Given the description of an element on the screen output the (x, y) to click on. 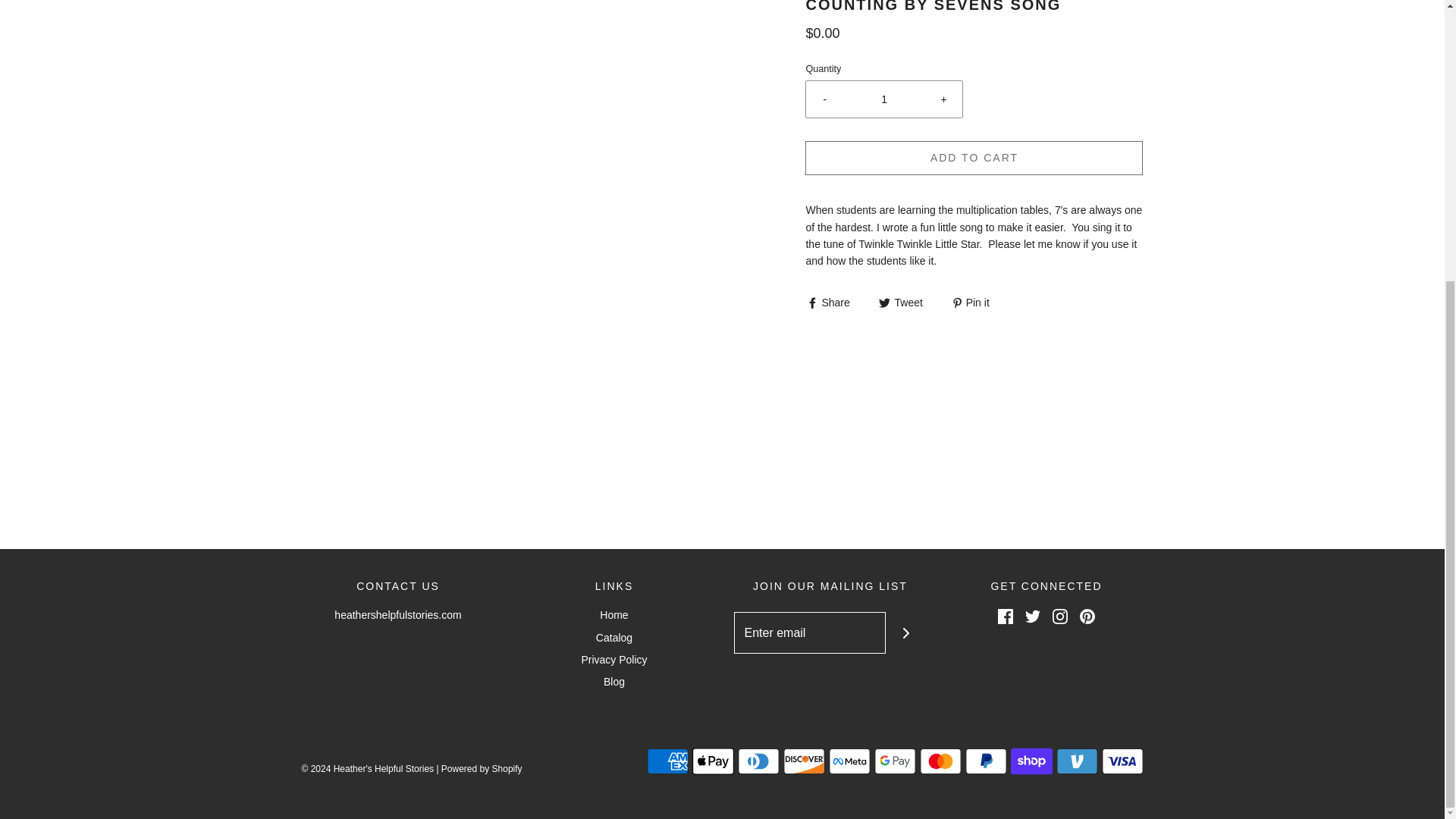
Pinterest icon (1087, 616)
Mastercard (939, 761)
Discover (803, 761)
Twitter icon (1033, 616)
PayPal (984, 761)
Instagram icon (1059, 616)
Google Pay (894, 761)
1 (884, 99)
Diners Club (757, 761)
American Express (666, 761)
